Given the description of an element on the screen output the (x, y) to click on. 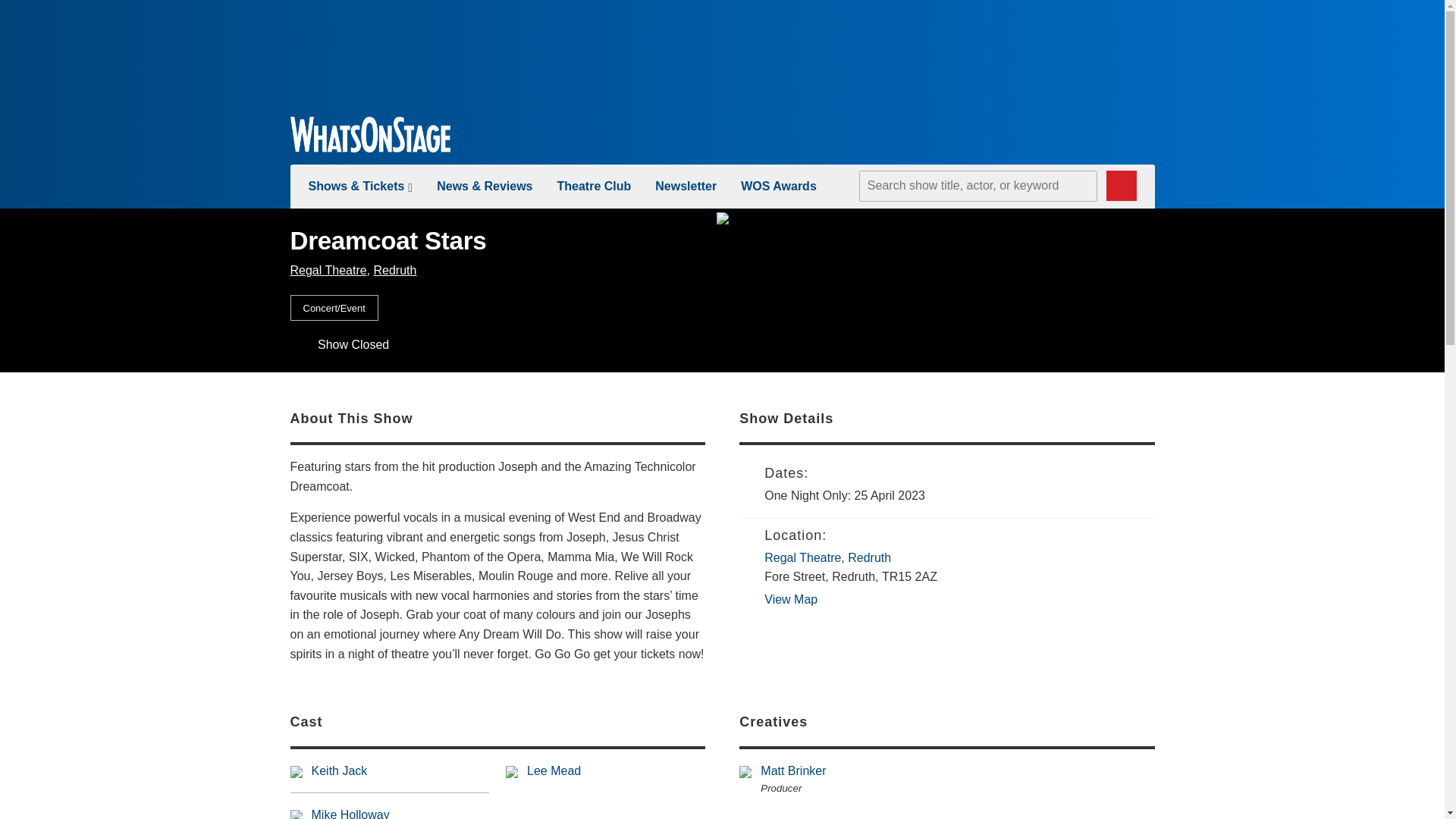
Newsletter (685, 185)
3rd party ad content (721, 52)
WOS Awards (778, 185)
Theatre Club (593, 185)
new-and-reviews-link (484, 185)
